Given the description of an element on the screen output the (x, y) to click on. 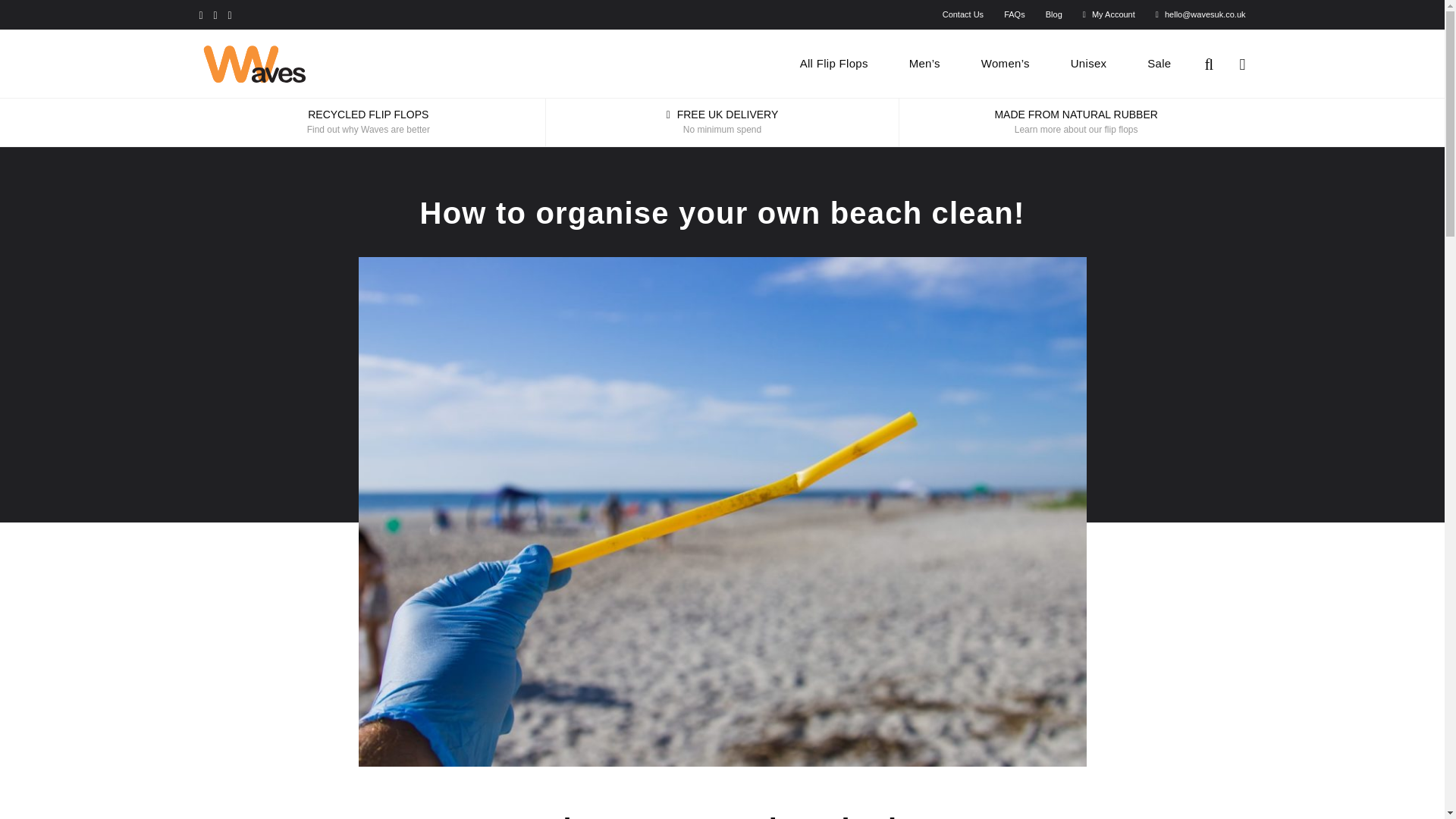
Waves Flip Flops UK (323, 68)
Sale (1158, 62)
Email Us (721, 14)
My Account (1109, 13)
Contact Us (963, 13)
All Flip Flops (834, 62)
My Account (1109, 13)
Unisex (1088, 62)
FAQs (1014, 13)
Email Us (1201, 13)
Blog (1053, 13)
